Given the description of an element on the screen output the (x, y) to click on. 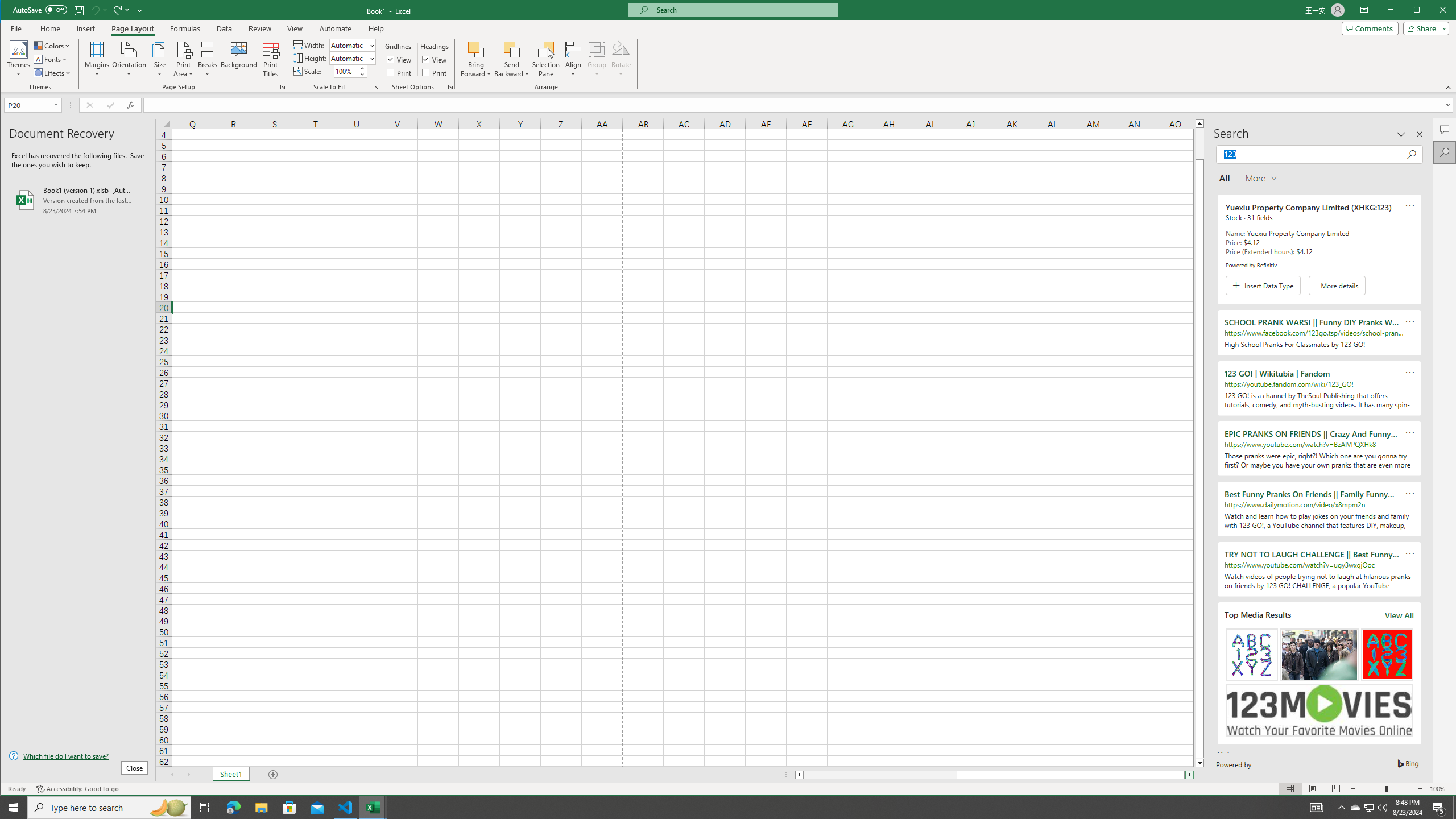
Home (50, 28)
View (294, 28)
AutoSave (39, 9)
Close pane (1419, 133)
Width (349, 45)
Search highlights icon opens search home window (167, 807)
More Options (512, 69)
Search (1444, 151)
AutomationID: 4105 (1316, 807)
Notification Chevron (1341, 807)
View (434, 59)
Task Pane Options (1400, 133)
Page Setup (375, 86)
Group (596, 59)
